Given the description of an element on the screen output the (x, y) to click on. 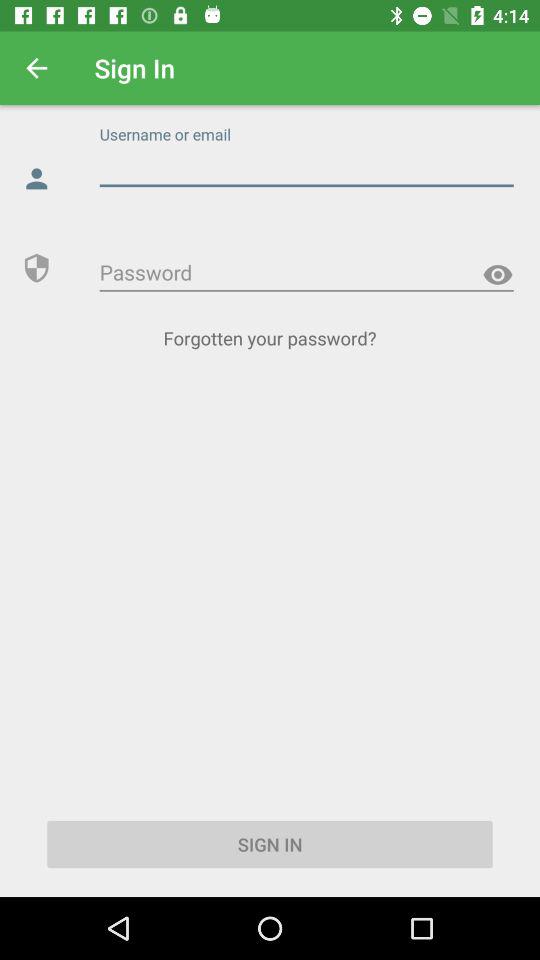
view password (498, 274)
